Given the description of an element on the screen output the (x, y) to click on. 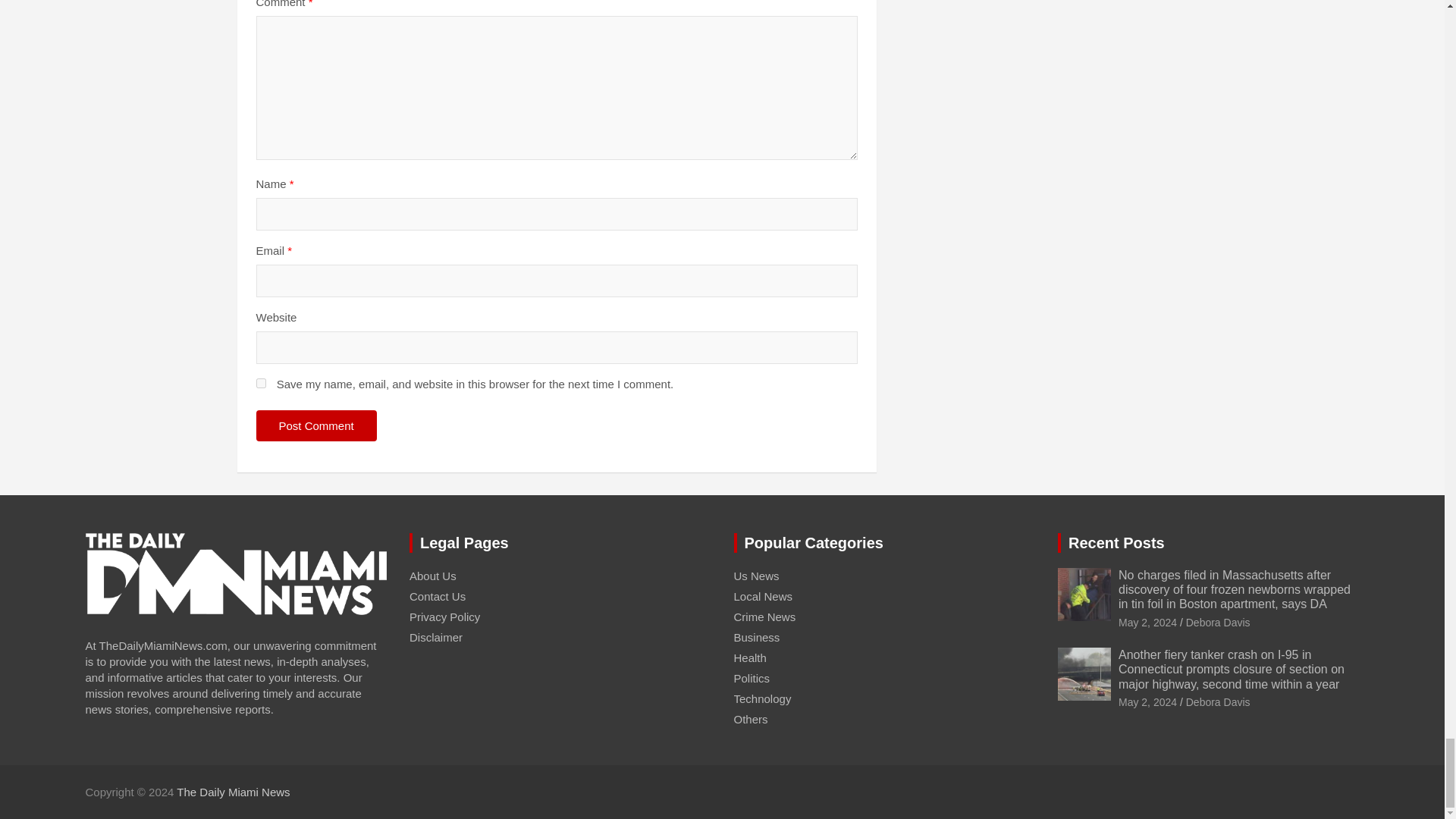
The Daily Miami News (232, 791)
Post Comment (316, 425)
Post Comment (316, 425)
yes (261, 383)
